Given the description of an element on the screen output the (x, y) to click on. 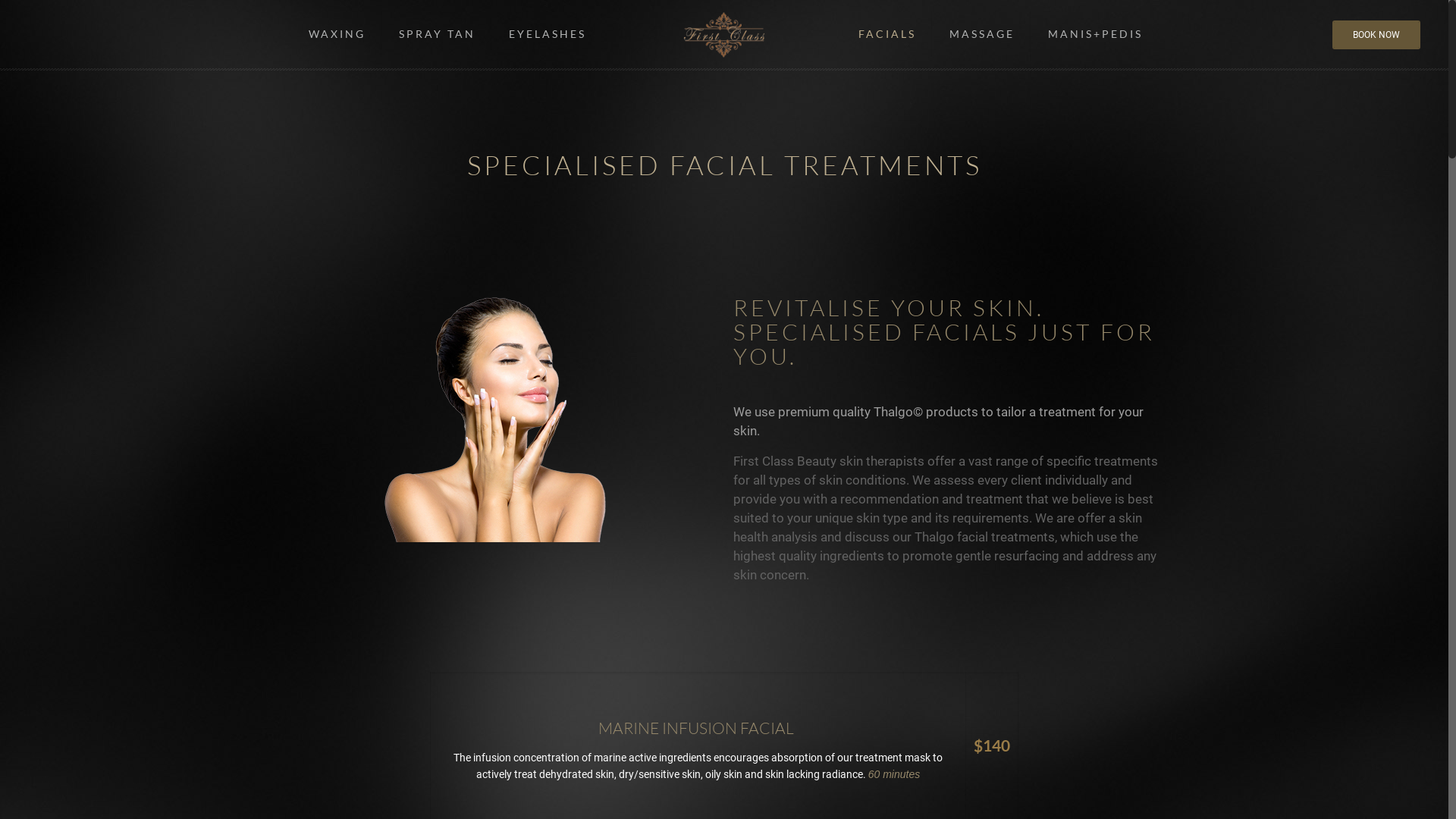
MANIS+PEDIS Element type: text (1094, 34)
FACIALS Element type: text (887, 34)
SPRAY TAN Element type: text (437, 34)
EYELASHES Element type: text (547, 34)
MASSAGE Element type: text (982, 34)
BOOK NOW Element type: text (1376, 34)
WAXING Element type: text (337, 34)
First Class Beauty Hawthorn Beauty Salon Element type: hover (724, 34)
